Given the description of an element on the screen output the (x, y) to click on. 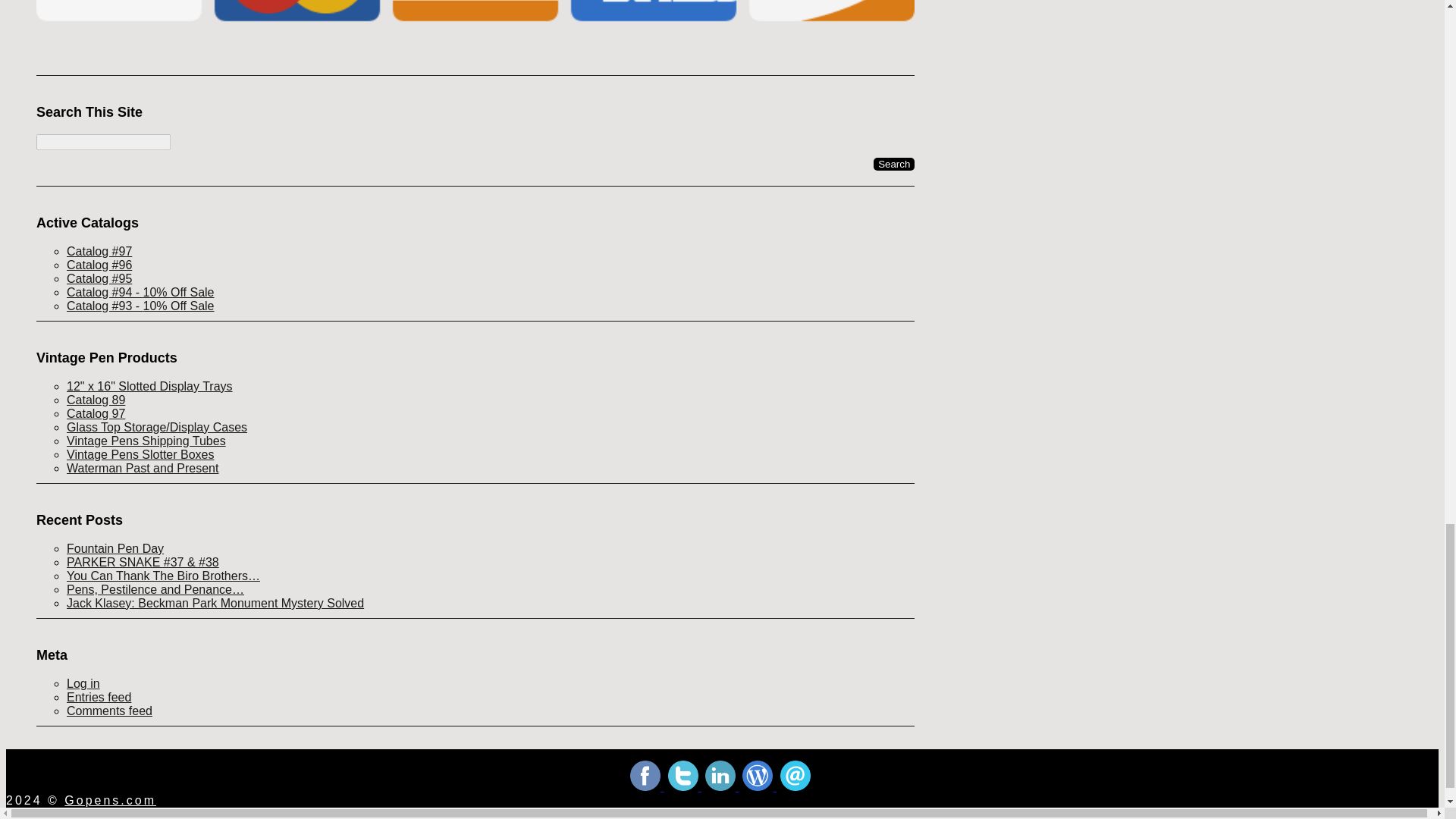
Check Our Our LinkedIn Profile (721, 786)
payments (475, 25)
Visit Our Facebook Page (646, 786)
Contact Us (795, 786)
Search (893, 164)
Visit Our Twitter Feed (684, 786)
Visit Our Blog (759, 786)
